Given the description of an element on the screen output the (x, y) to click on. 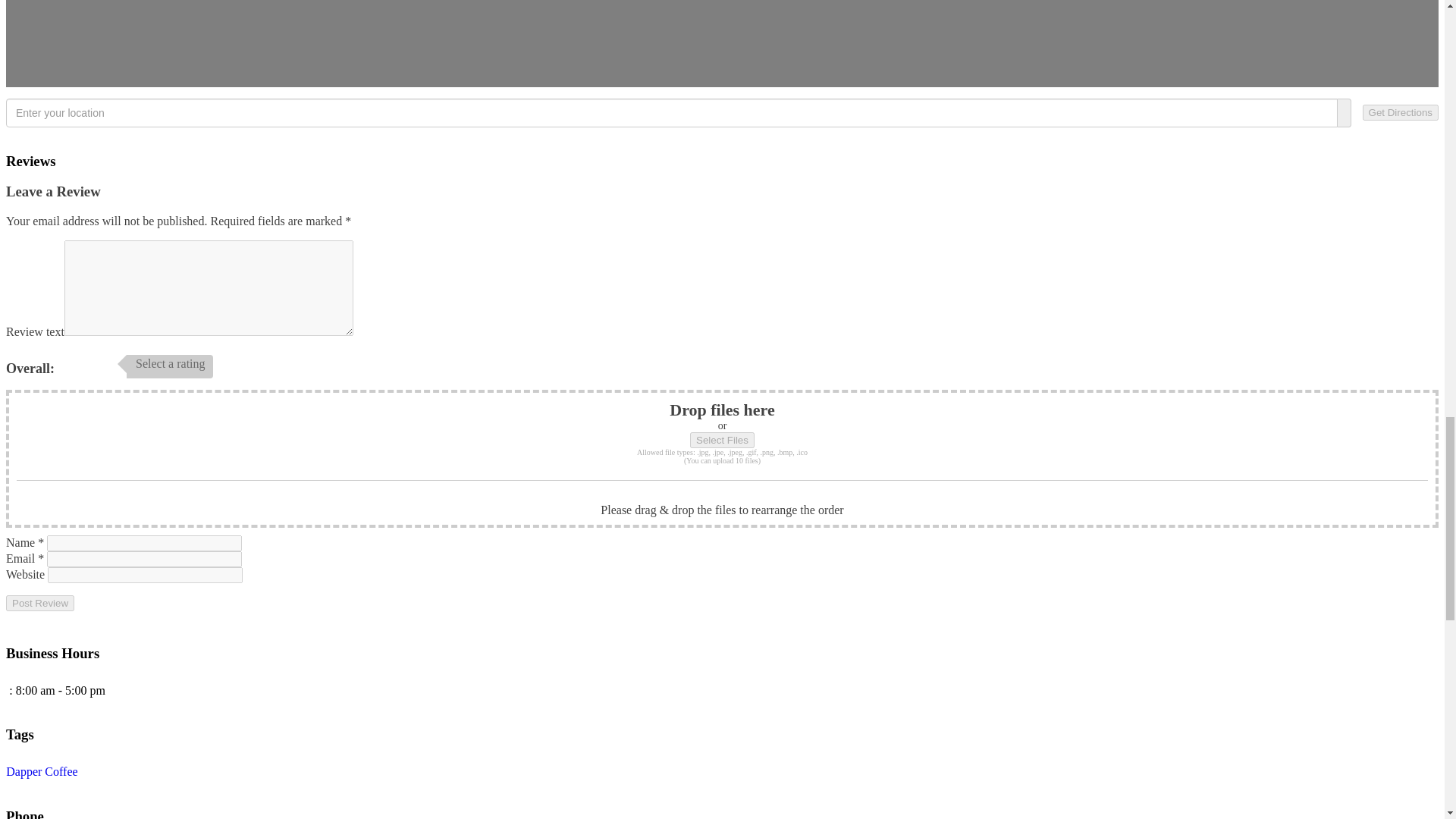
Post Review (39, 602)
Select Files (722, 439)
